Given the description of an element on the screen output the (x, y) to click on. 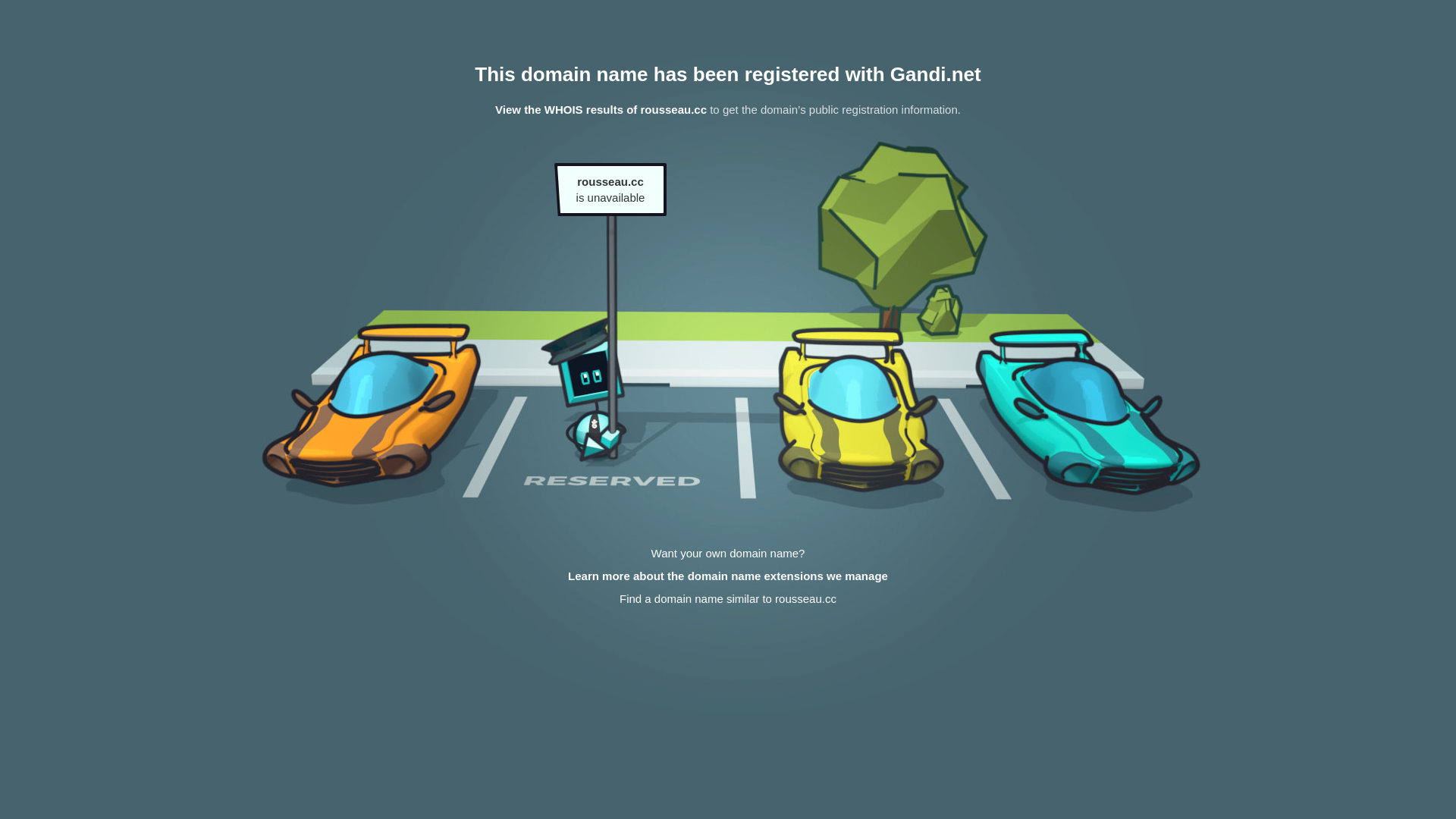
View the WHOIS results of rousseau.cc Element type: text (600, 109)
Learn more about the domain name extensions we manage Element type: text (727, 575)
Find a domain name similar to rousseau.cc Element type: text (727, 598)
